Given the description of an element on the screen output the (x, y) to click on. 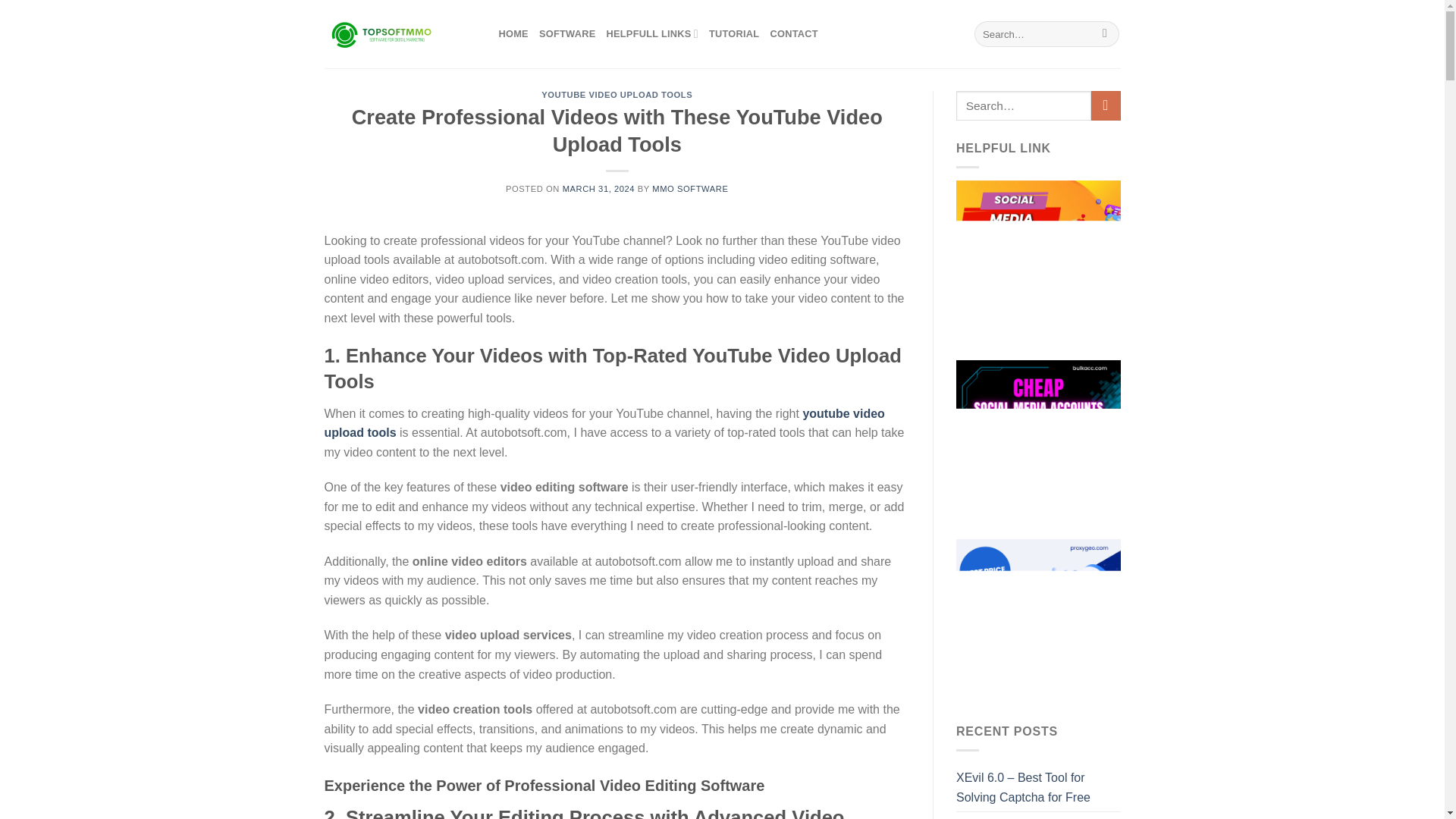
HELPFULL LINKS (651, 33)
TUTORIAL (734, 33)
SOFTWARE (566, 33)
CONTACT (793, 33)
youtube video upload tools (604, 423)
MMO Software - Digital Marketing Software (400, 33)
Keep Your Data Secure on Twitter with a Proxy (1038, 815)
YOUTUBE VIDEO UPLOAD TOOLS (617, 94)
MMO SOFTWARE (690, 188)
HOME (513, 33)
